Given the description of an element on the screen output the (x, y) to click on. 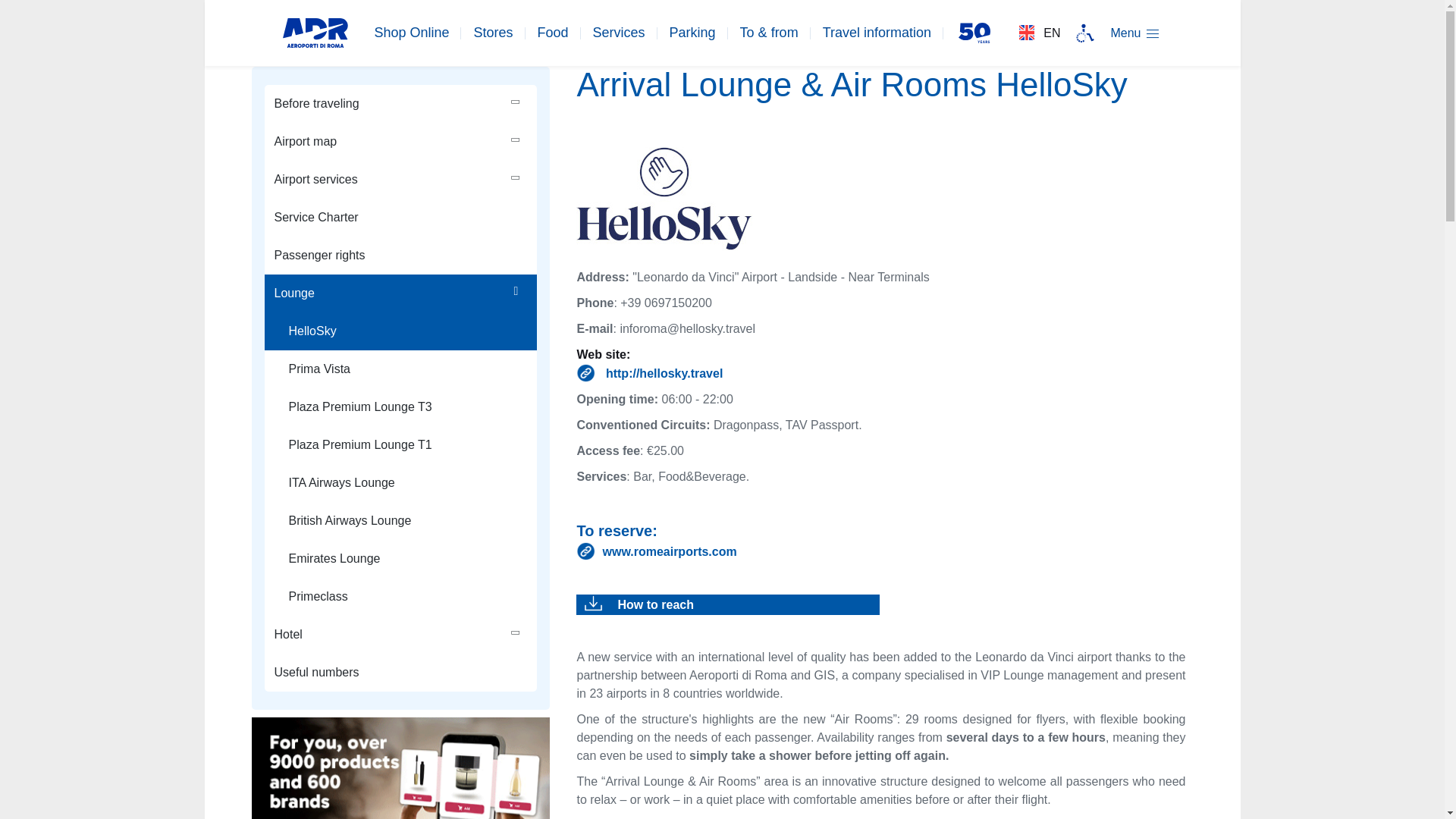
Stores (492, 32)
Parking (692, 32)
Food (553, 32)
Services (618, 32)
Special assistance (1084, 32)
50 Years (973, 32)
Internal link: ecommerce romeairports (880, 551)
Travel information (876, 32)
Shop Online (411, 32)
